Given the description of an element on the screen output the (x, y) to click on. 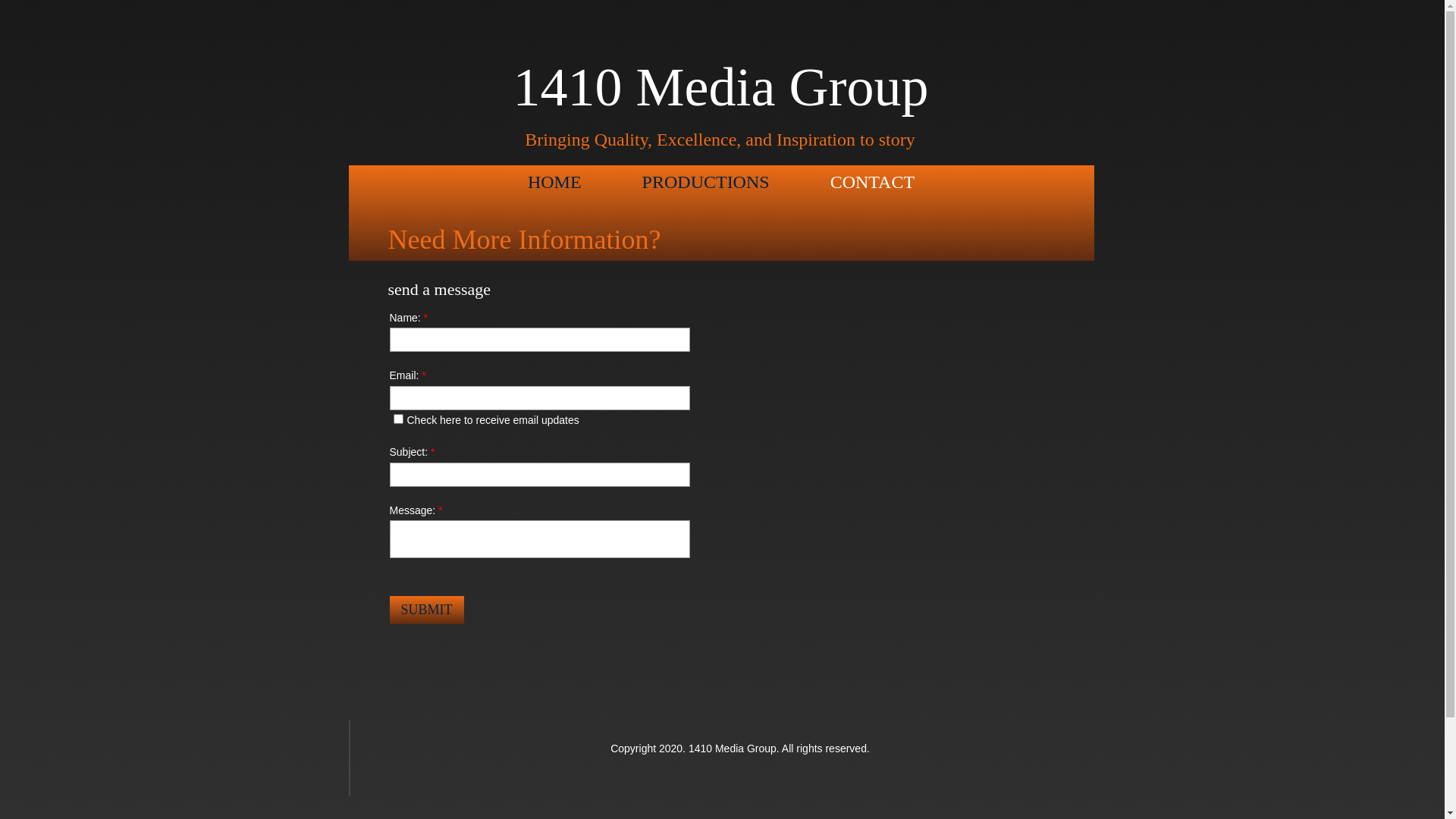
Submit Element type: text (426, 610)
PRODUCTIONS Element type: text (705, 182)
HOME Element type: text (554, 182)
CONTACT Element type: text (872, 182)
